Given the description of an element on the screen output the (x, y) to click on. 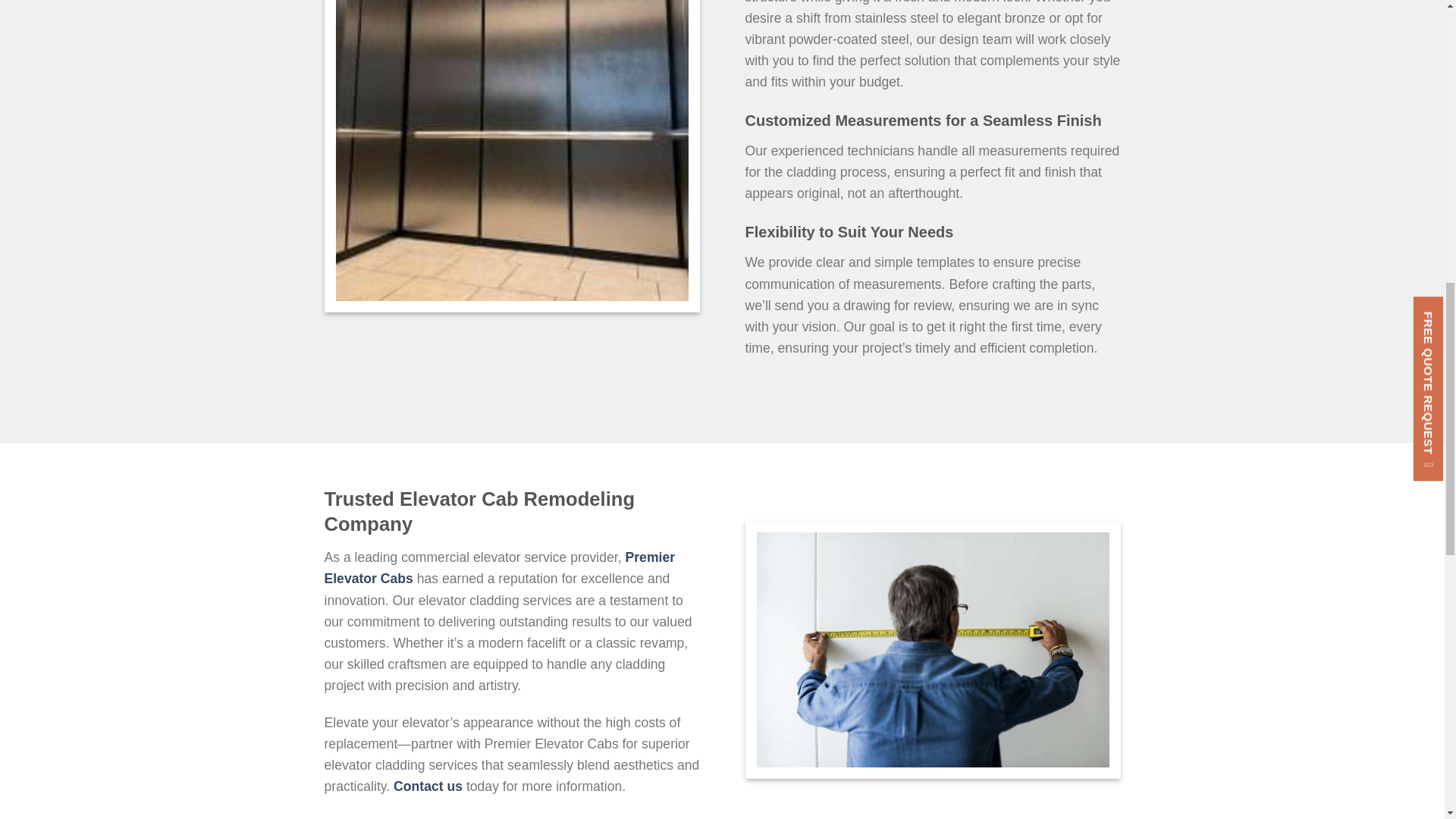
Premier Elevator Cabs (499, 567)
Contact us (428, 785)
